Given the description of an element on the screen output the (x, y) to click on. 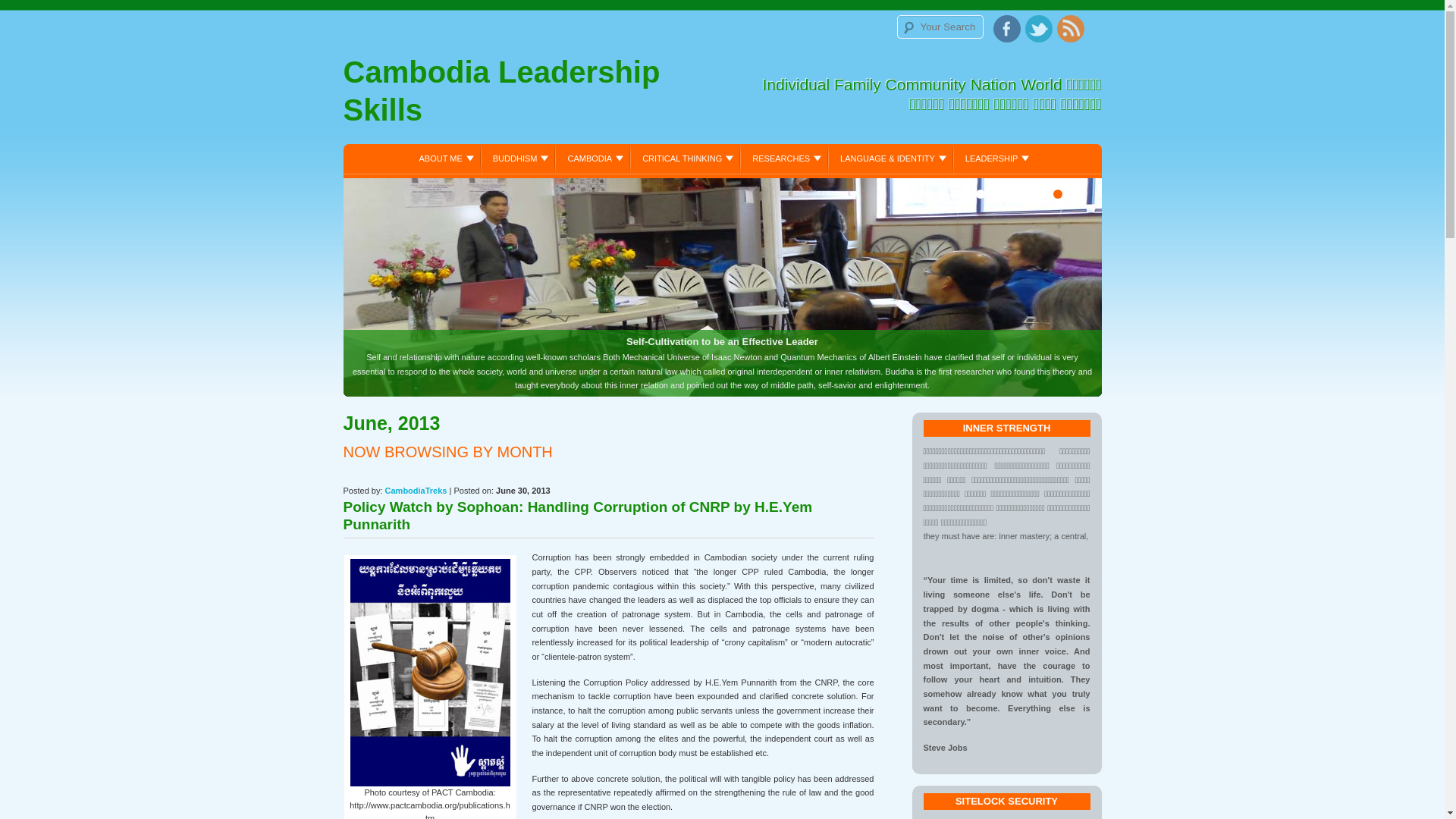
Posts by CambodiaTreks (415, 490)
Search (29, 13)
Cambodia Leadership Skills (532, 94)
ABOUT ME (444, 158)
BUDDHISM (518, 158)
CAMBODIA (593, 158)
CRITICAL THINKING (685, 158)
